Given the description of an element on the screen output the (x, y) to click on. 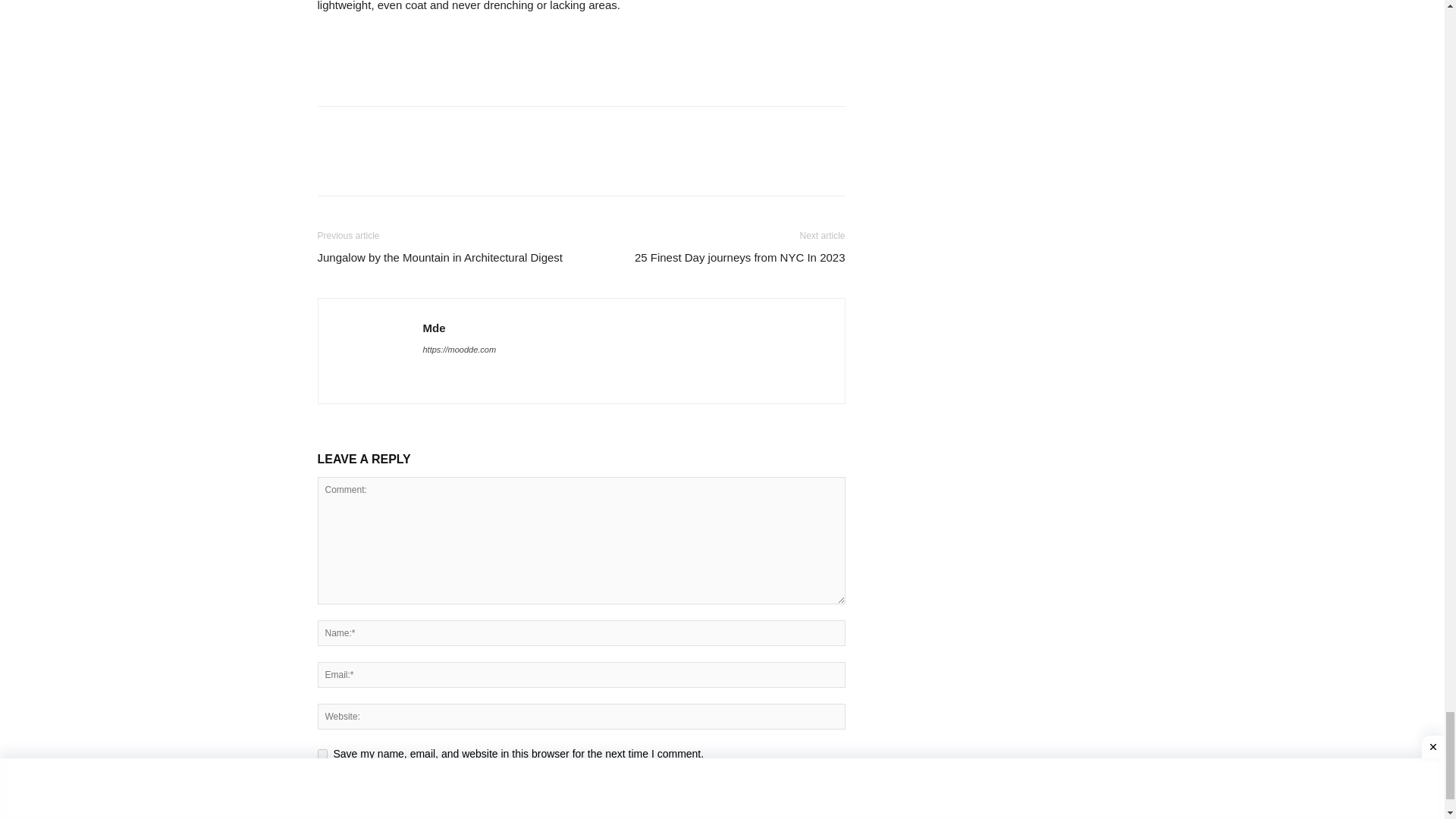
yes (321, 754)
Post Comment (360, 789)
